Given the description of an element on the screen output the (x, y) to click on. 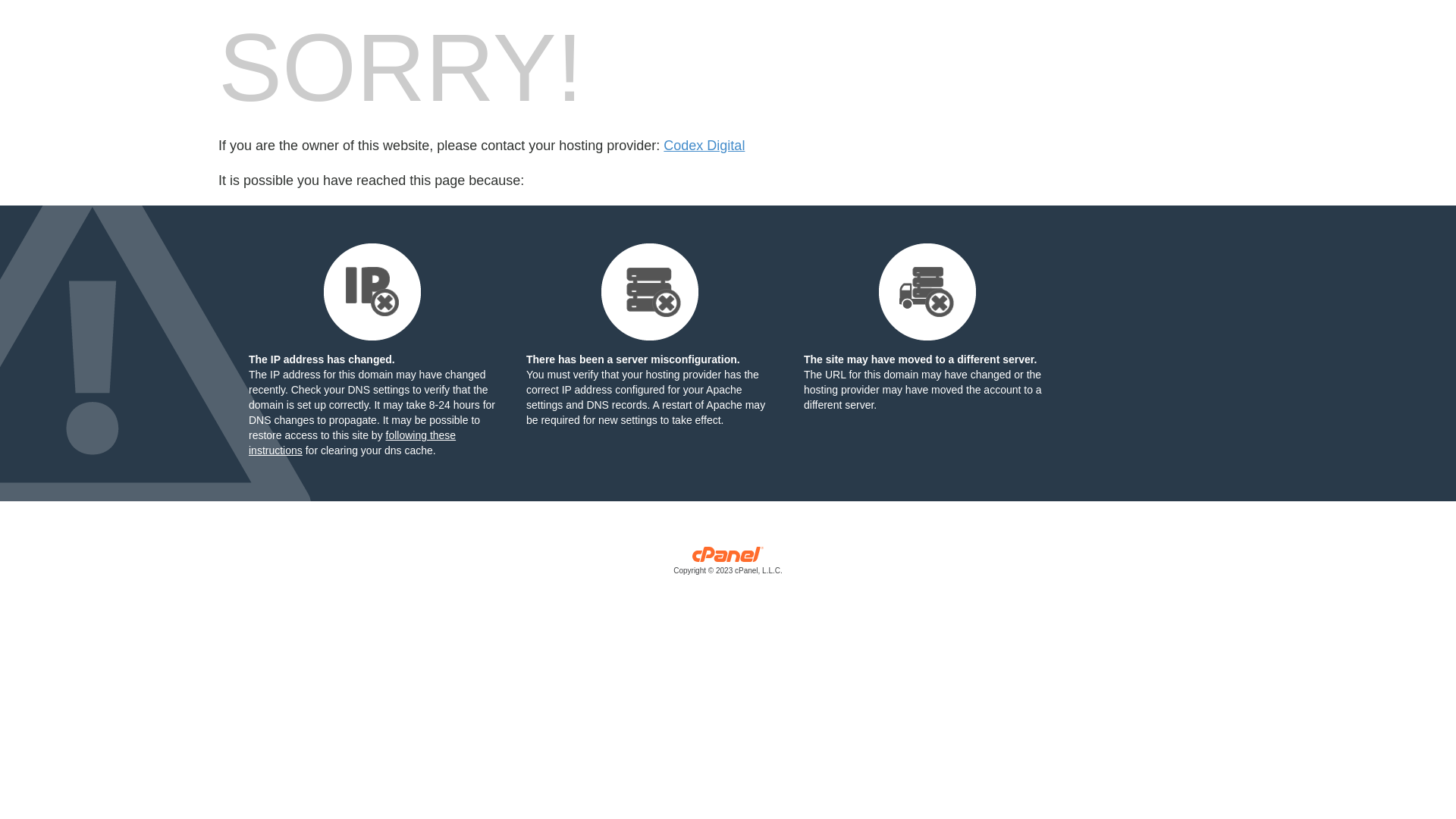
following these instructions Element type: text (351, 442)
Codex Digital Element type: text (703, 145)
